Given the description of an element on the screen output the (x, y) to click on. 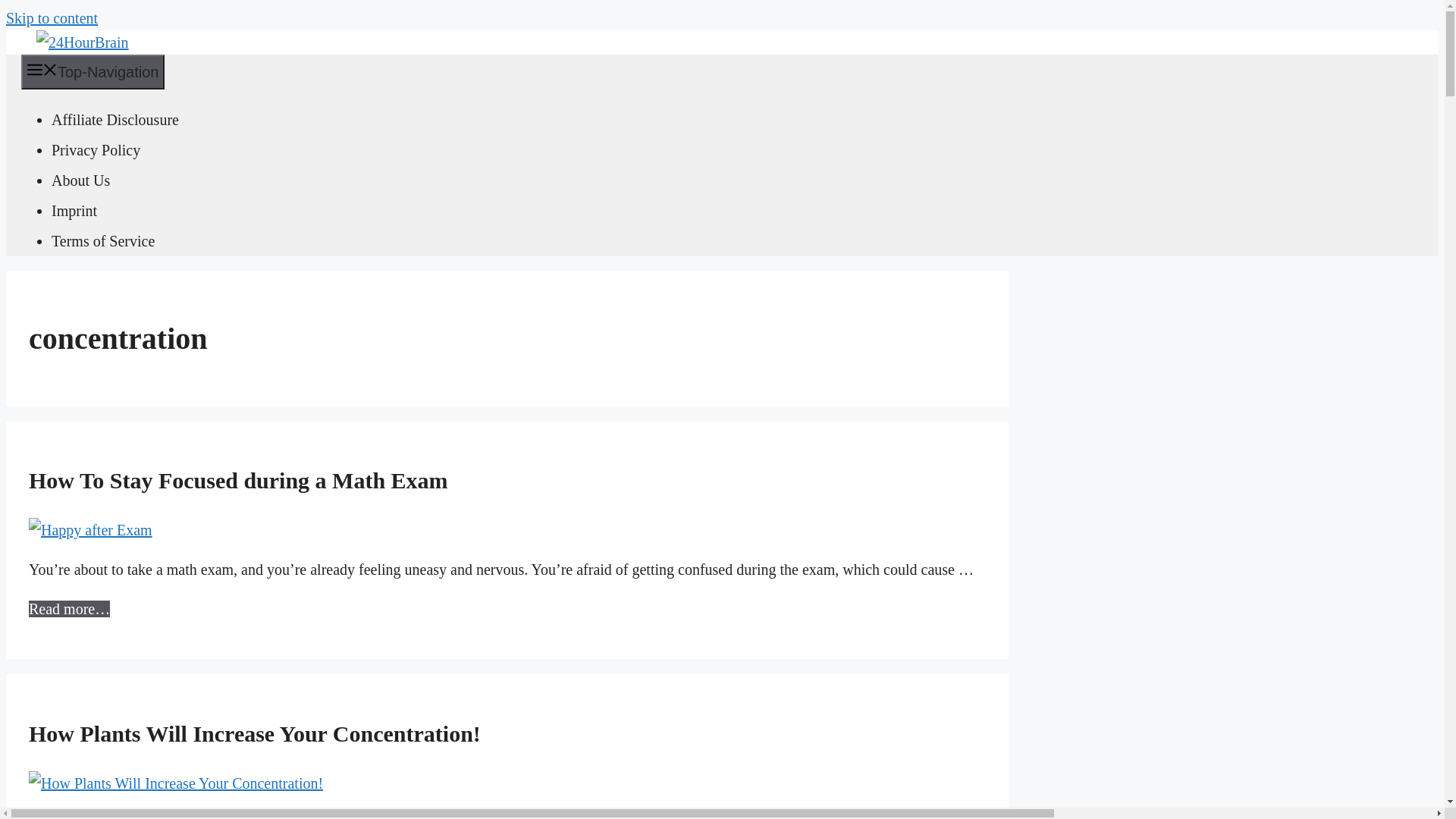
How Plants Will Increase Your Concentration! Element type: text (254, 733)
About Us Element type: text (80, 180)
How To Stay Focused during a Math Exam Element type: text (238, 479)
Privacy Policy Element type: text (95, 149)
Imprint Element type: text (74, 210)
Terms of Service Element type: text (102, 240)
Skip to content Element type: text (51, 17)
Top-Navigation Element type: text (92, 71)
Affiliate Disclousure Element type: text (114, 119)
